Given the description of an element on the screen output the (x, y) to click on. 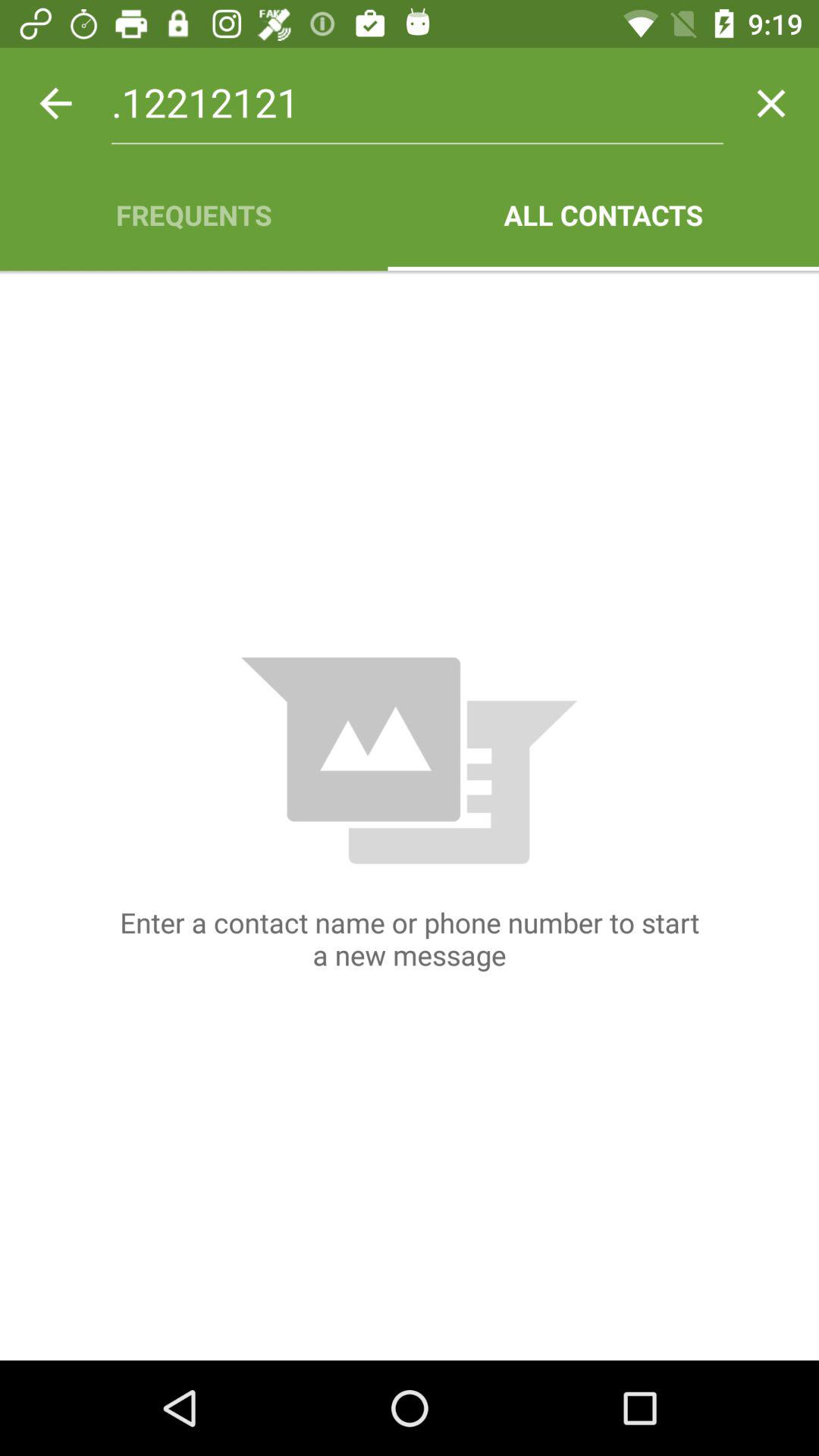
open all contacts app (603, 214)
